Given the description of an element on the screen output the (x, y) to click on. 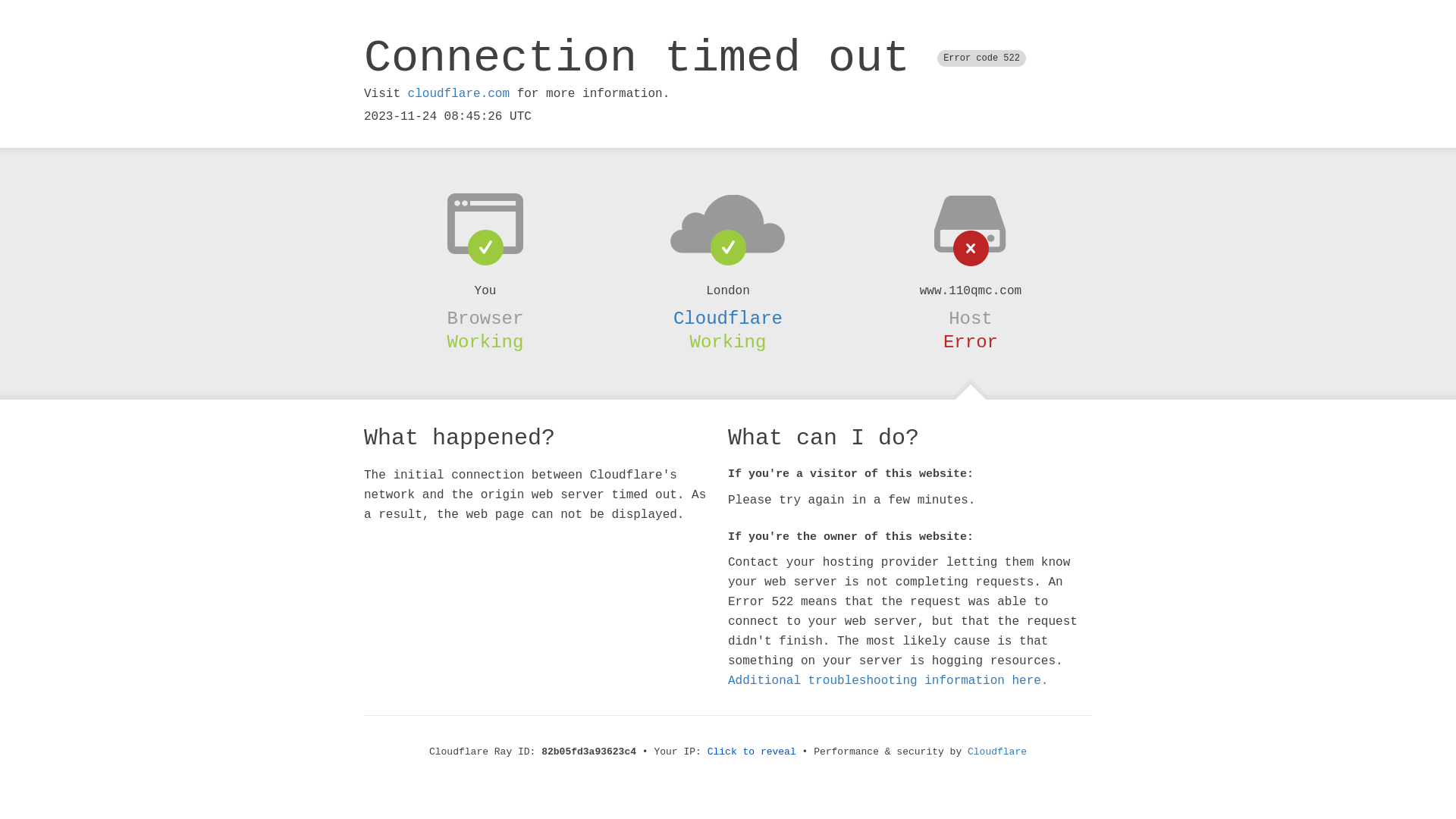
Cloudflare Element type: text (996, 751)
cloudflare.com Element type: text (458, 93)
Click to reveal Element type: text (751, 751)
Additional troubleshooting information here. Element type: text (888, 680)
Cloudflare Element type: text (727, 318)
